Given the description of an element on the screen output the (x, y) to click on. 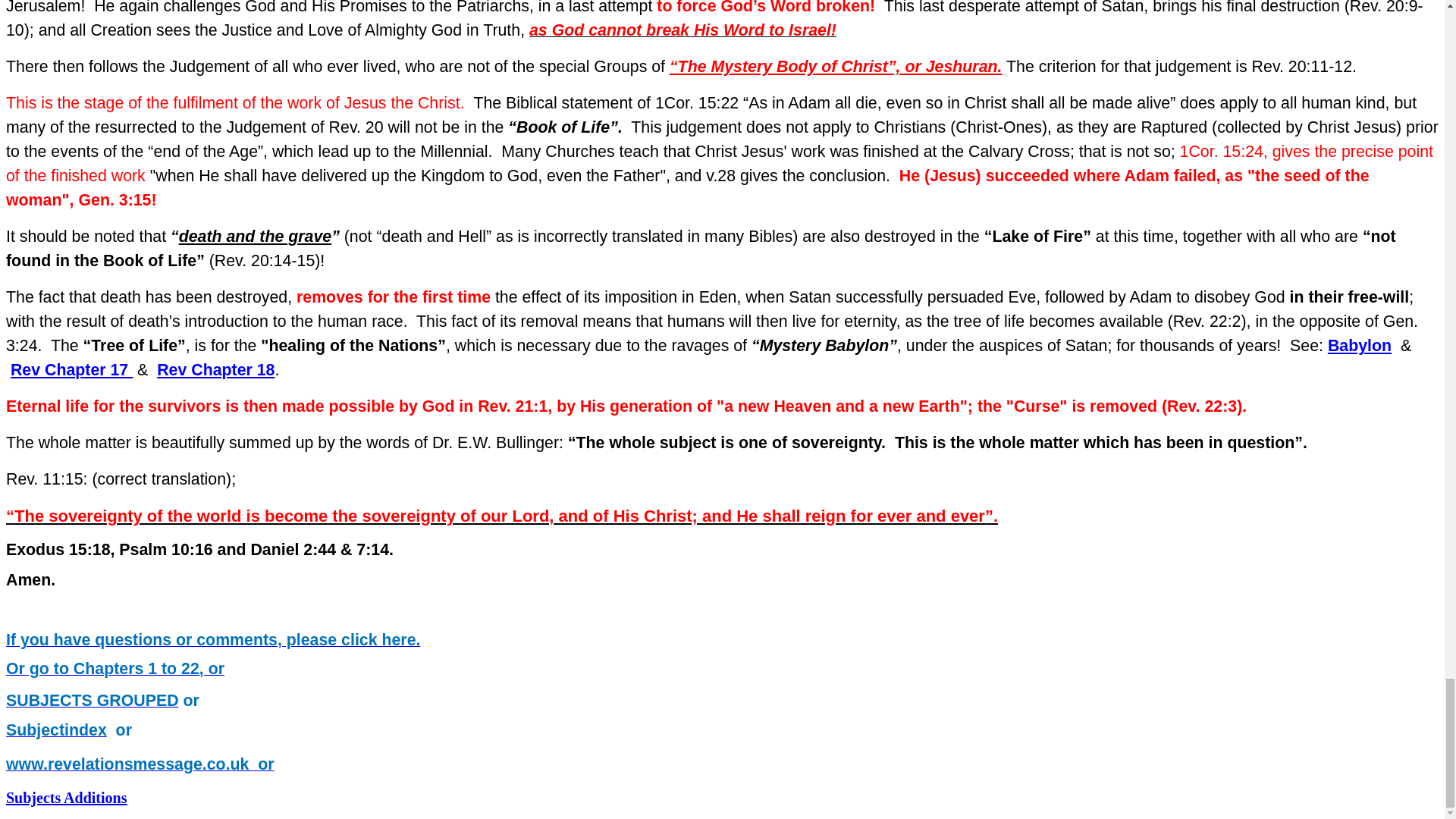
Subjects Additions (66, 797)
Babylon (1359, 345)
Babylon (1359, 345)
Rev Chapter 18 (216, 370)
SUBJECTS GROUPED (92, 701)
If you have questions or comments, please click here. (212, 640)
www.revelationsmessage.co.uk  or (140, 765)
SUBJECTS GROUPED (92, 701)
Rev Chapter 17  (71, 370)
Or go to Chapters 1 to 22, or (114, 669)
Subjectindex (55, 730)
